Given the description of an element on the screen output the (x, y) to click on. 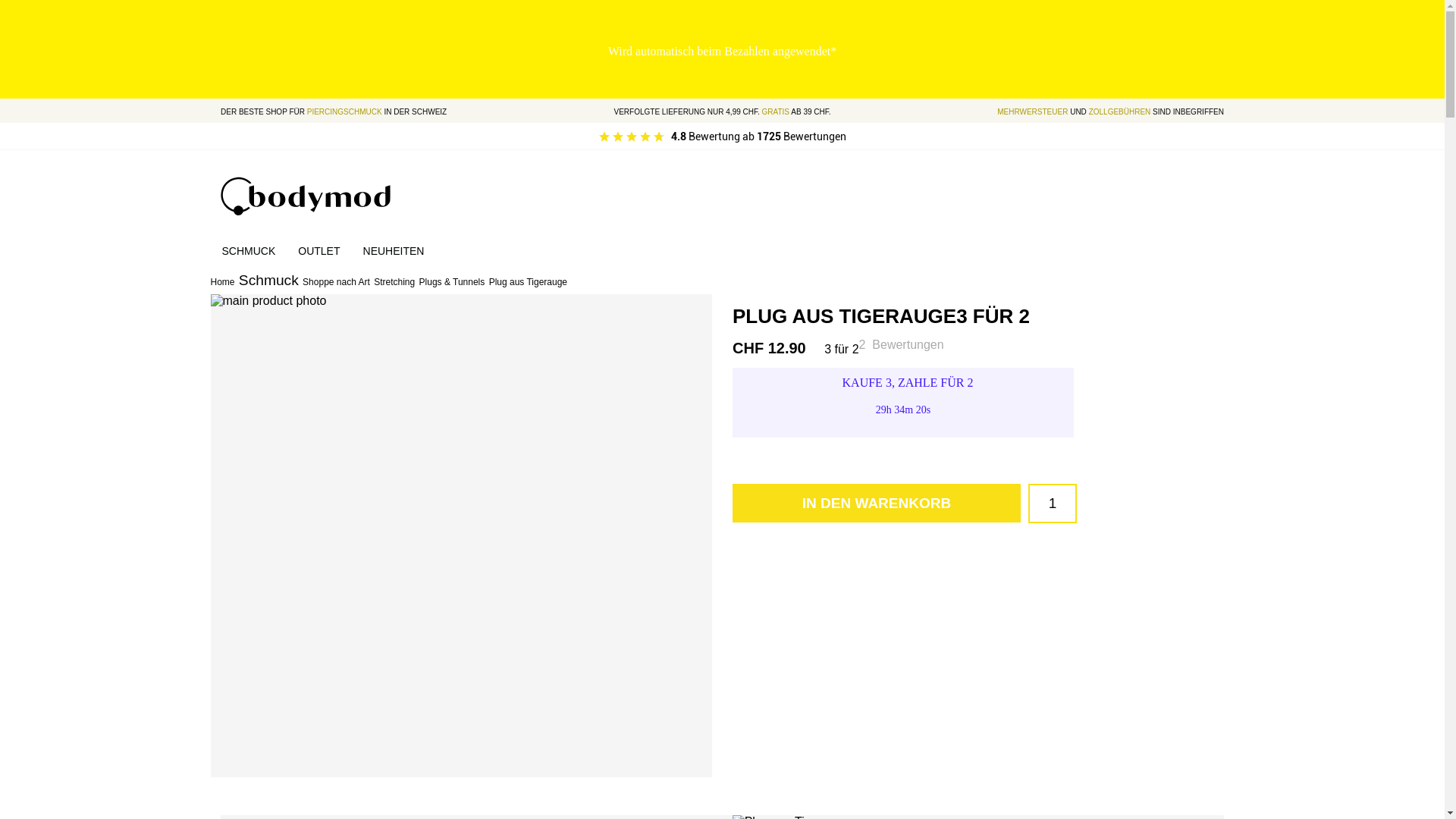
Plugs & Tunnels Element type: text (452, 281)
OUTLET Element type: text (318, 251)
Stretching Element type: text (393, 281)
SCHMUCK Element type: text (248, 251)
Shoppe nach Art Element type: text (336, 281)
NEUHEITEN Element type: text (393, 251)
EmbedSocial Universal Widget Element type: hover (722, 136)
IN DEN WARENKORB Element type: text (876, 502)
Skip to the beginning of the images gallery Element type: text (209, 776)
Skip to the end of the images gallery Element type: text (209, 293)
Home Element type: text (222, 281)
2  Bewertungen Element type: text (901, 344)
Menge Element type: hover (1052, 503)
